Given the description of an element on the screen output the (x, y) to click on. 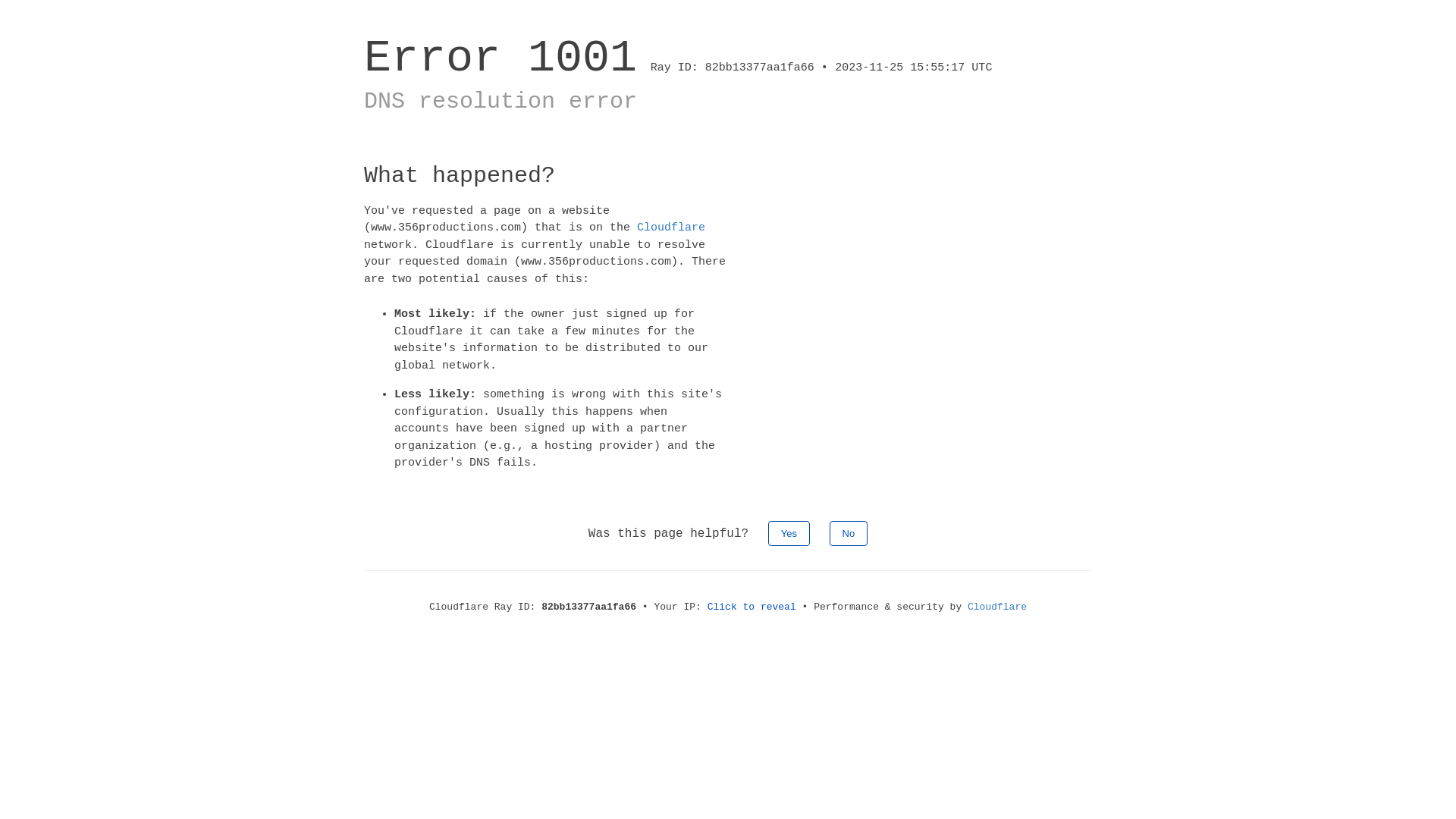
Cloudflare Element type: text (671, 227)
Cloudflare Element type: text (996, 605)
Yes Element type: text (788, 532)
Click to reveal Element type: text (751, 605)
No Element type: text (848, 532)
